Given the description of an element on the screen output the (x, y) to click on. 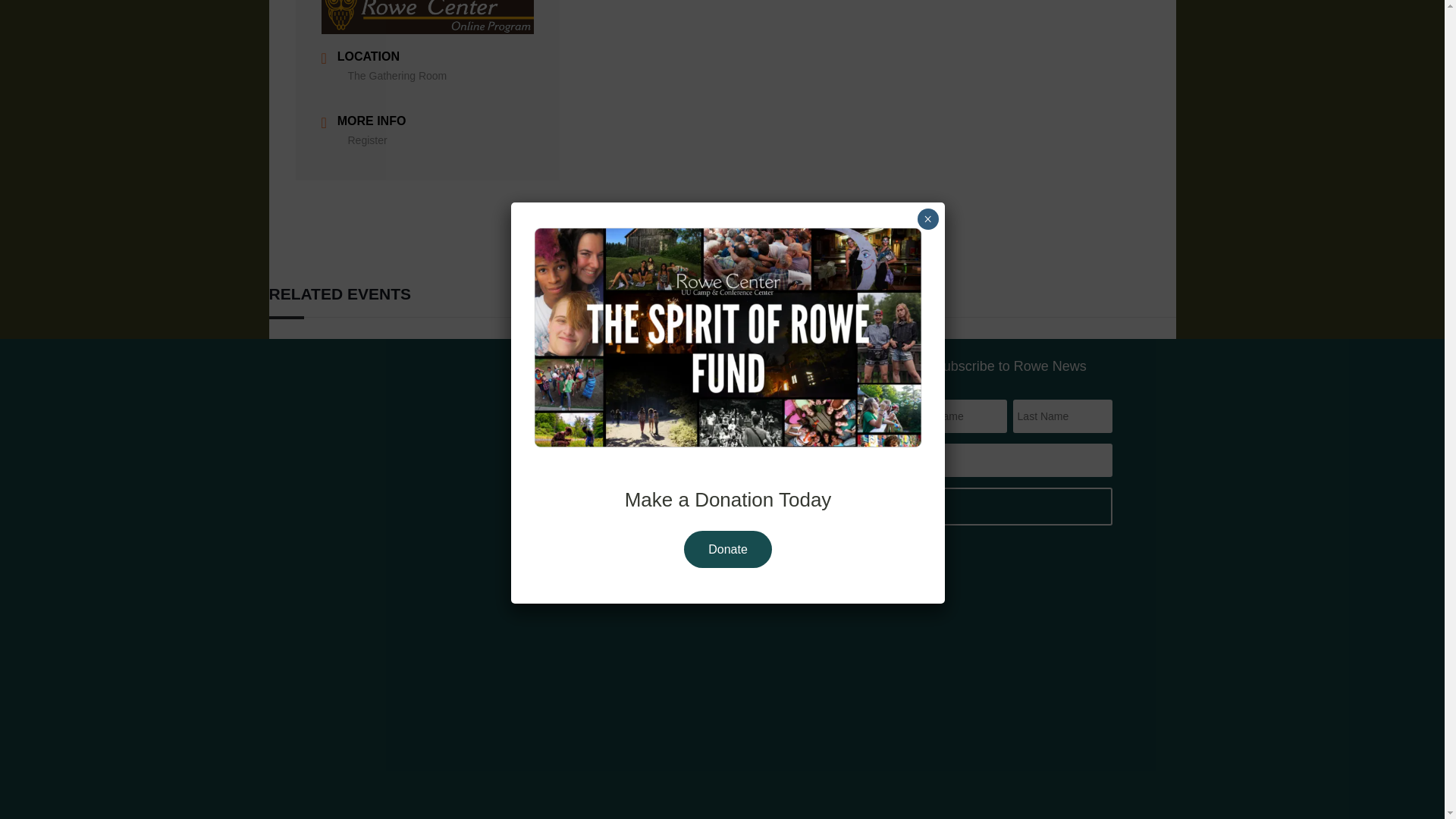
Follow on Facebook (403, 690)
Follow on Instagram (434, 690)
Follow on Youtube (464, 690)
